Given the description of an element on the screen output the (x, y) to click on. 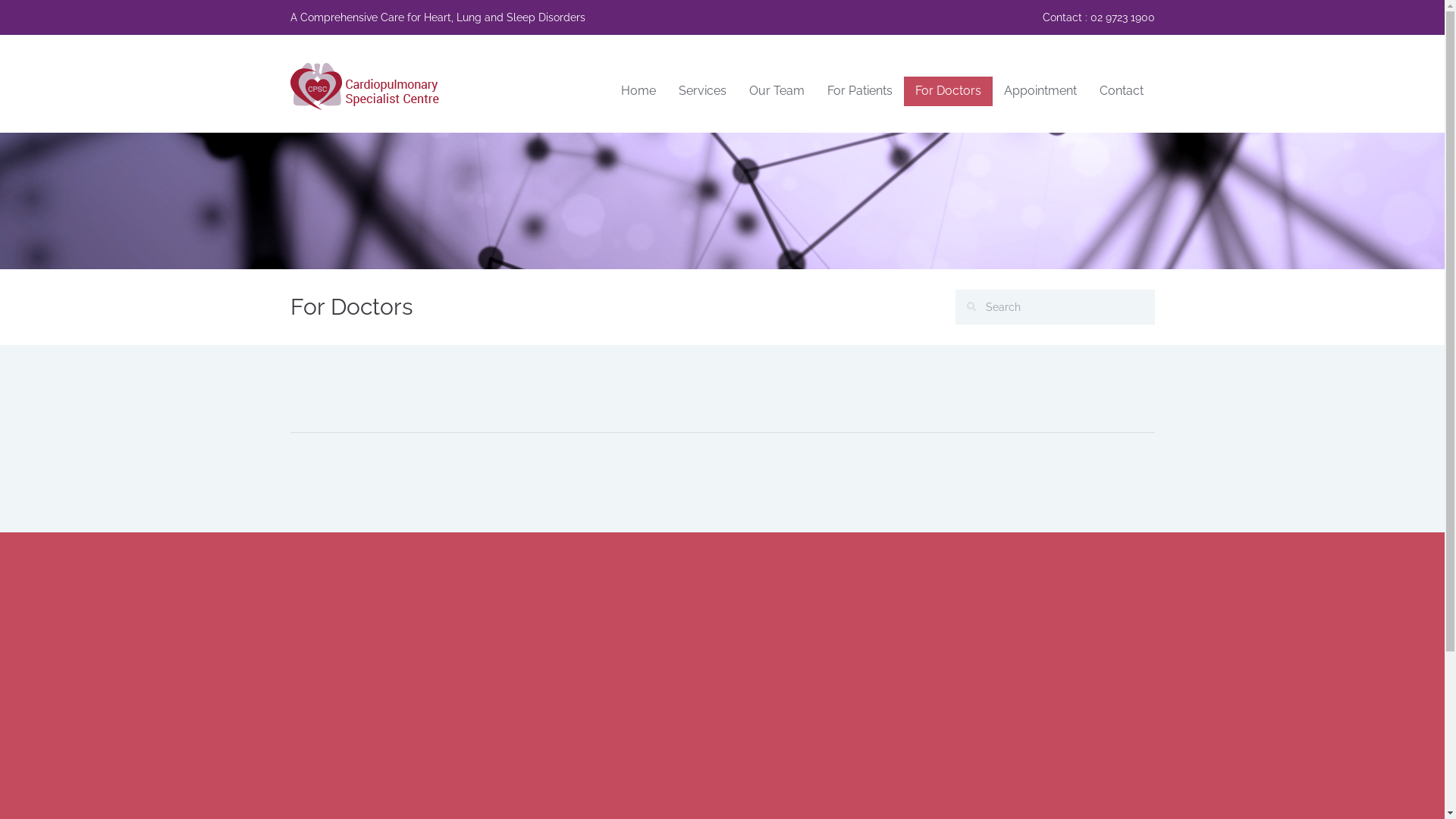
Appointment Element type: text (1039, 91)
Services Element type: text (702, 91)
For Doctors Element type: text (947, 91)
Home Element type: text (638, 91)
Contact Element type: text (1120, 91)
Our Team Element type: text (776, 91)
For Patients Element type: text (859, 91)
